Given the description of an element on the screen output the (x, y) to click on. 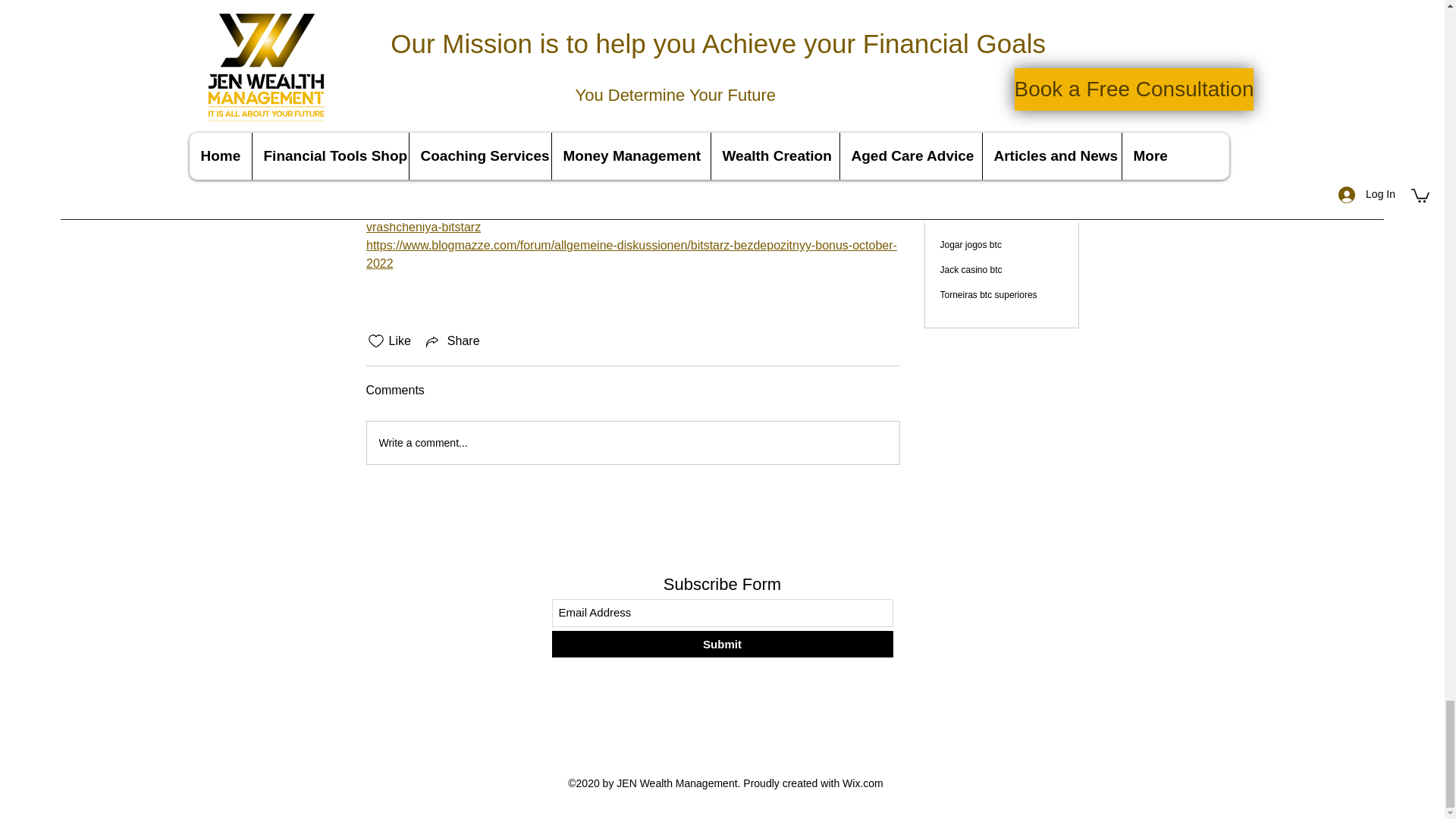
Write a comment... (632, 442)
Submit (722, 643)
Share (451, 341)
